Given the description of an element on the screen output the (x, y) to click on. 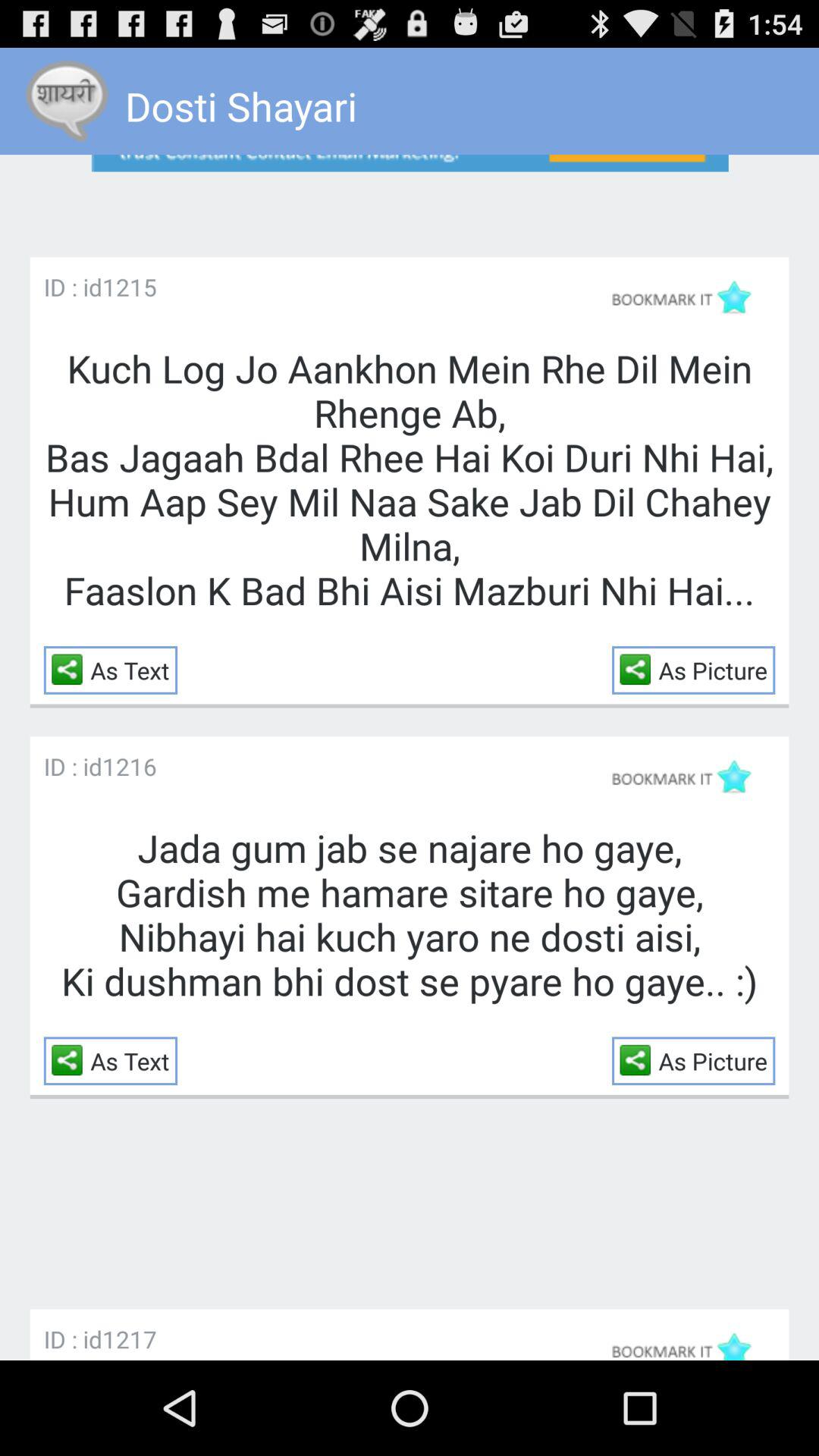
launch the item below the as text icon (129, 766)
